Given the description of an element on the screen output the (x, y) to click on. 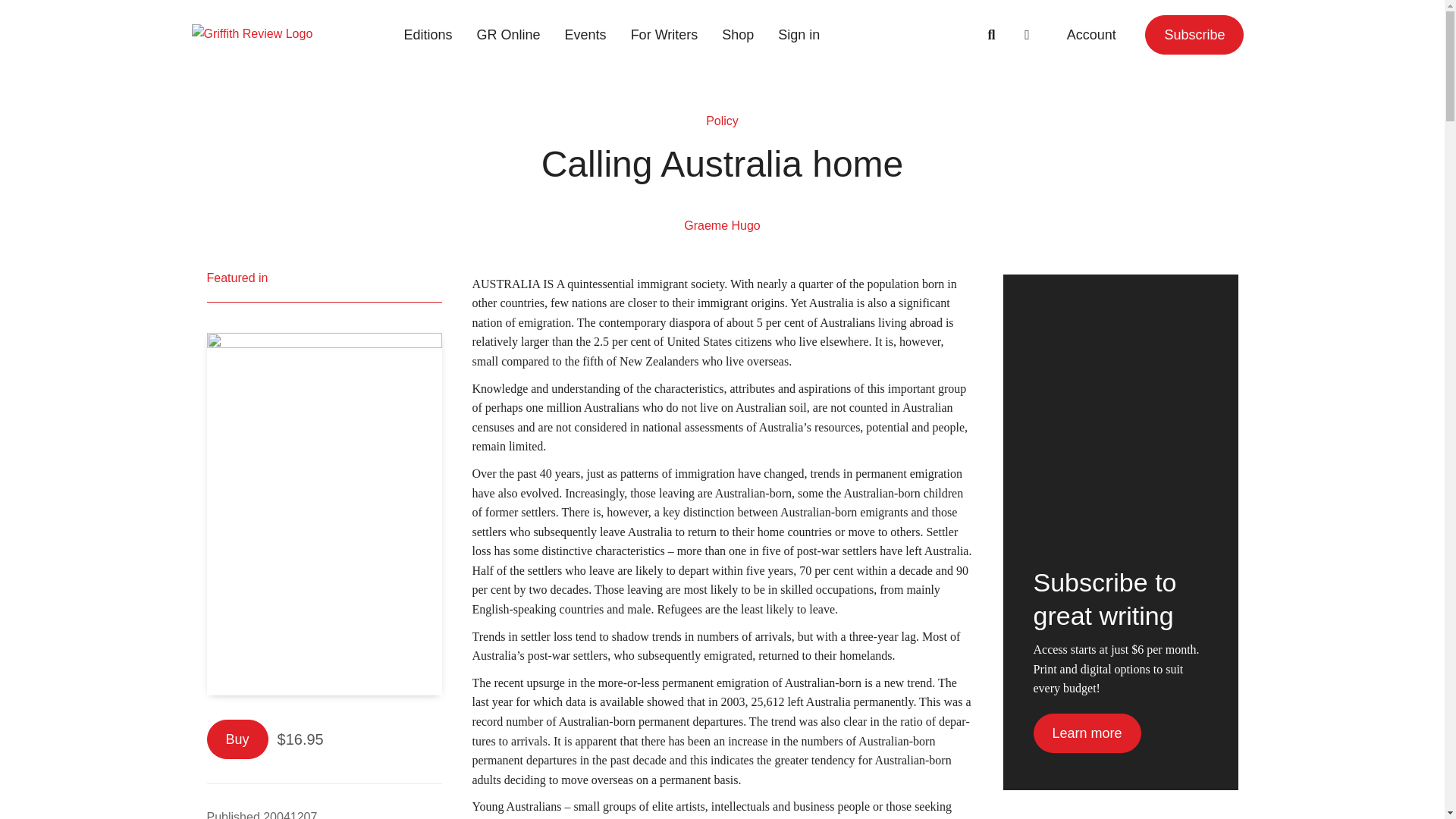
Graeme Hugo (722, 225)
Shop (737, 34)
Policy (722, 120)
For Writers (664, 34)
GR Online (508, 34)
Editions (427, 34)
Events (585, 34)
Subscribe (1193, 34)
Account (1090, 34)
Sign in (798, 34)
